Given the description of an element on the screen output the (x, y) to click on. 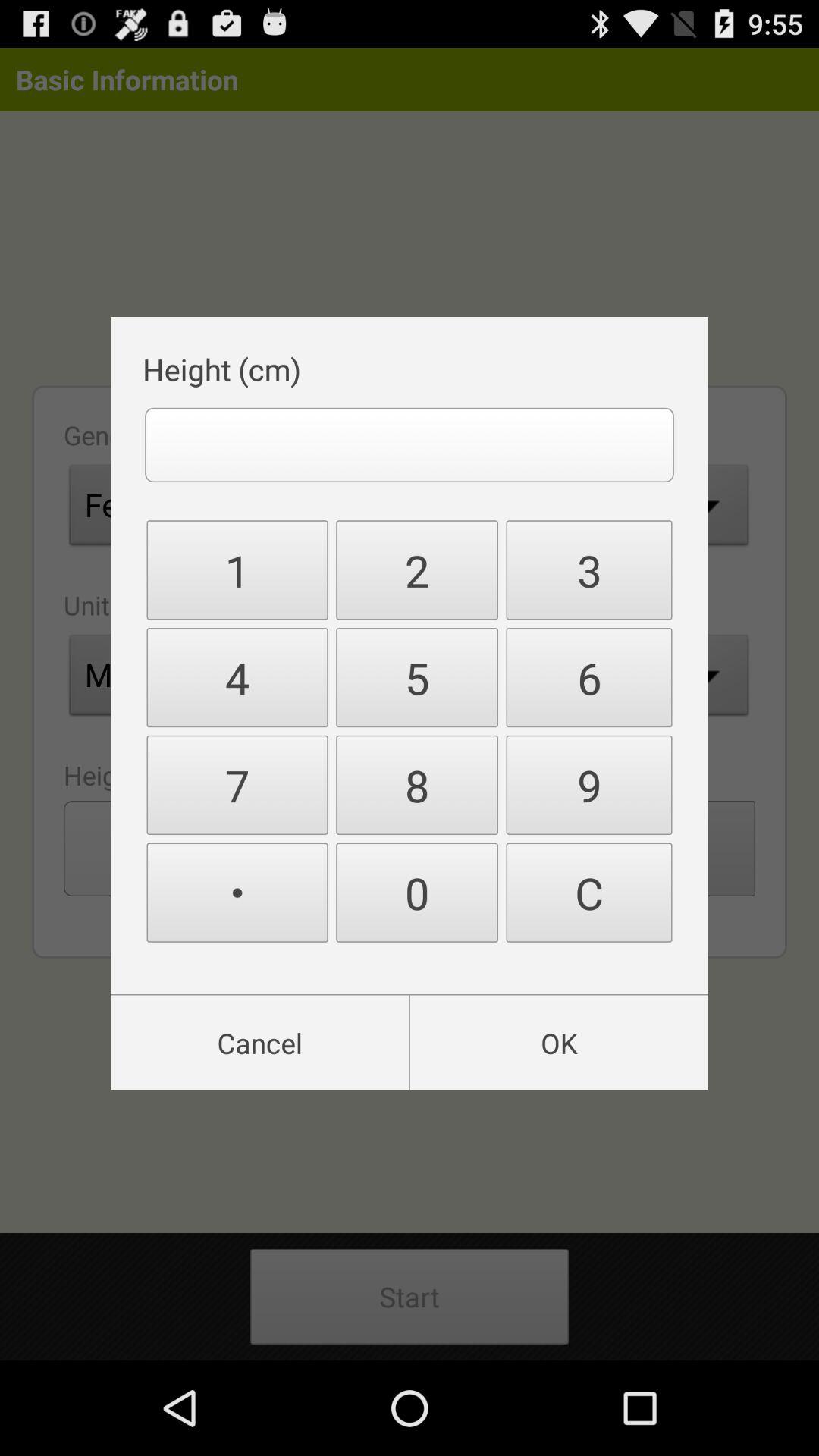
tap 4 (237, 677)
